Given the description of an element on the screen output the (x, y) to click on. 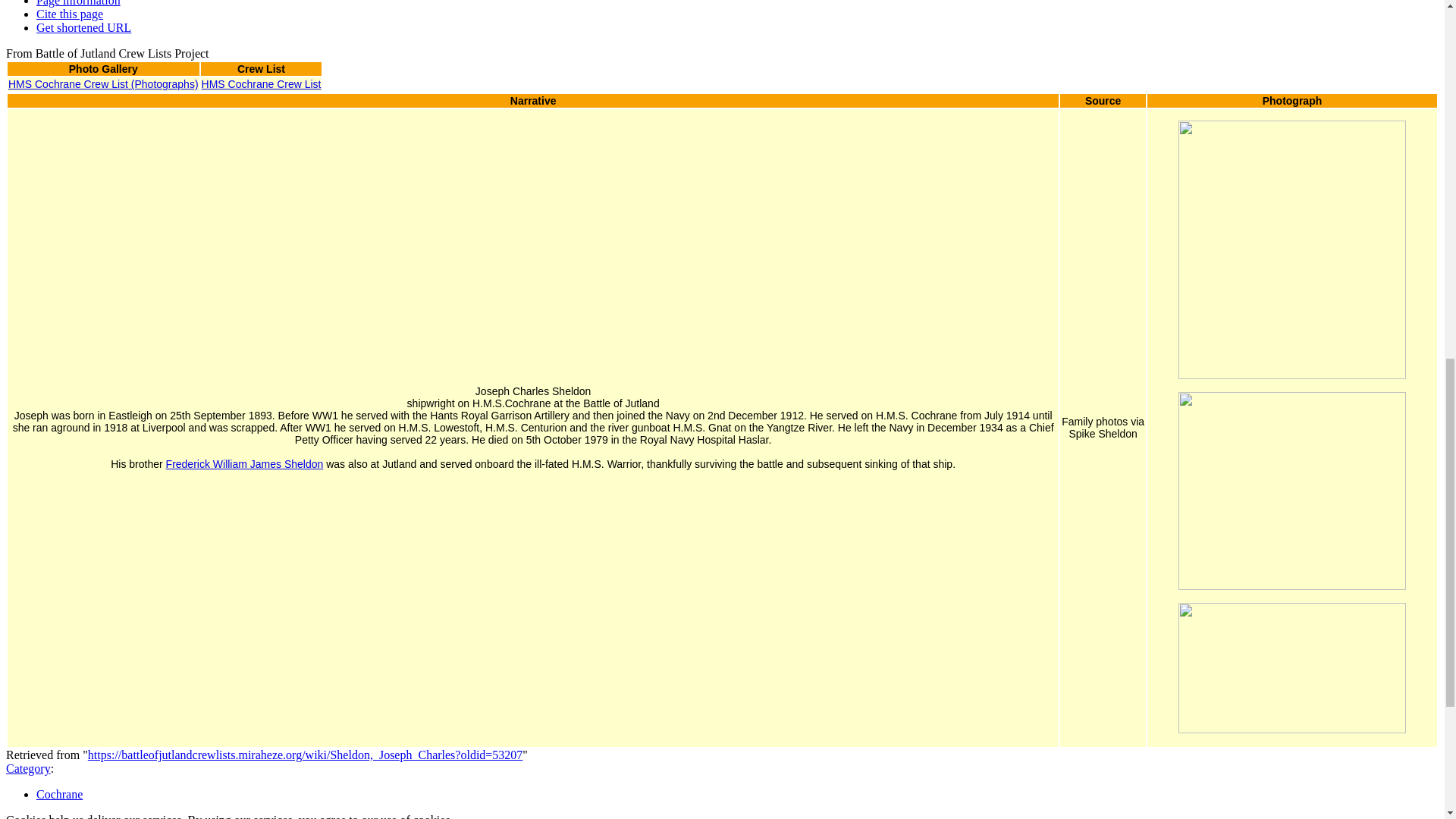
HMS Cochrane Crew List (261, 83)
Page information (78, 3)
Frederick William James Sheldon (244, 463)
Get shortened URL (83, 27)
Cite this page (69, 13)
